Given the description of an element on the screen output the (x, y) to click on. 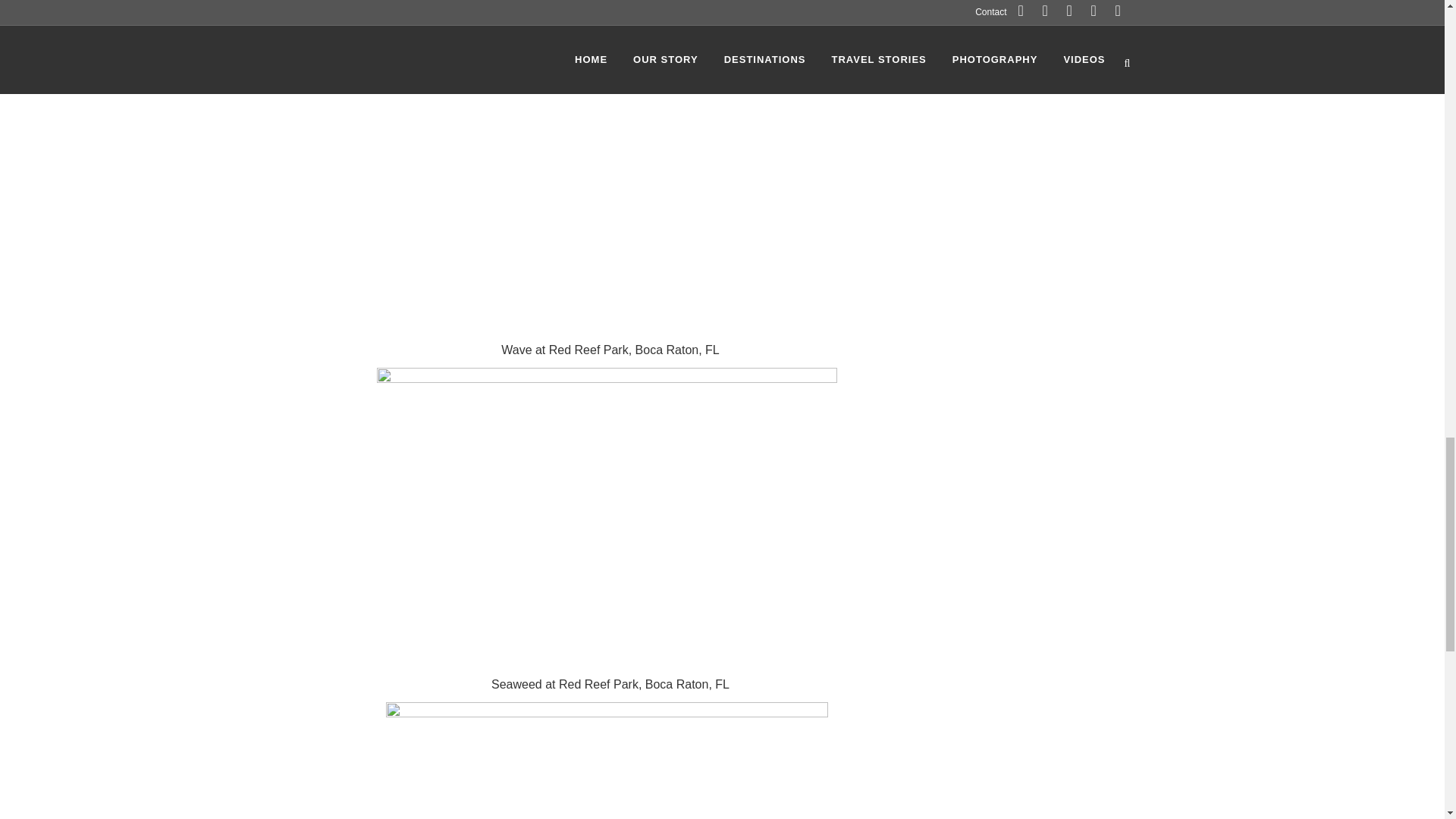
Shell (606, 760)
